Given the description of an element on the screen output the (x, y) to click on. 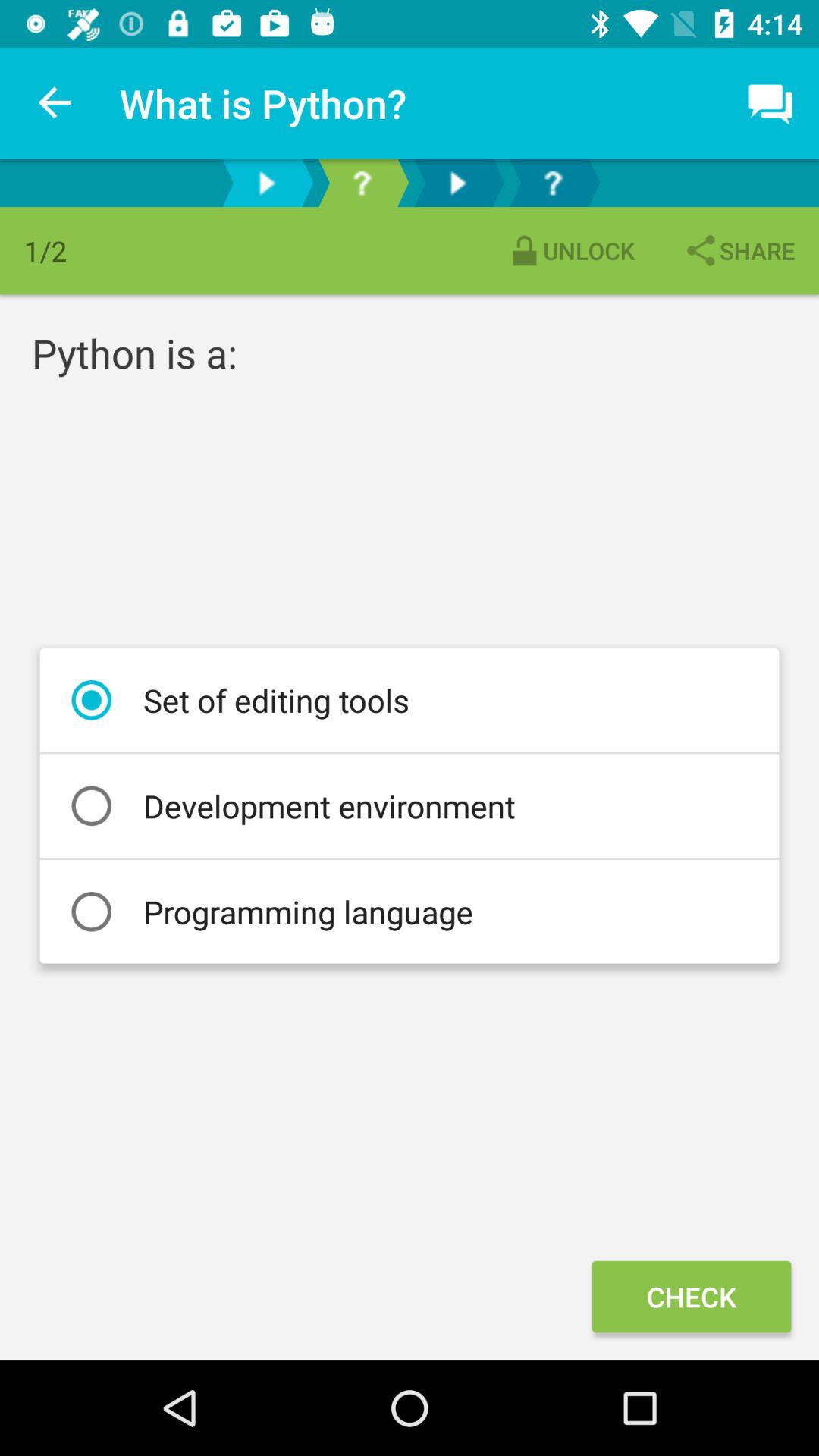
select item to the left of the what is python? item (55, 103)
